Given the description of an element on the screen output the (x, y) to click on. 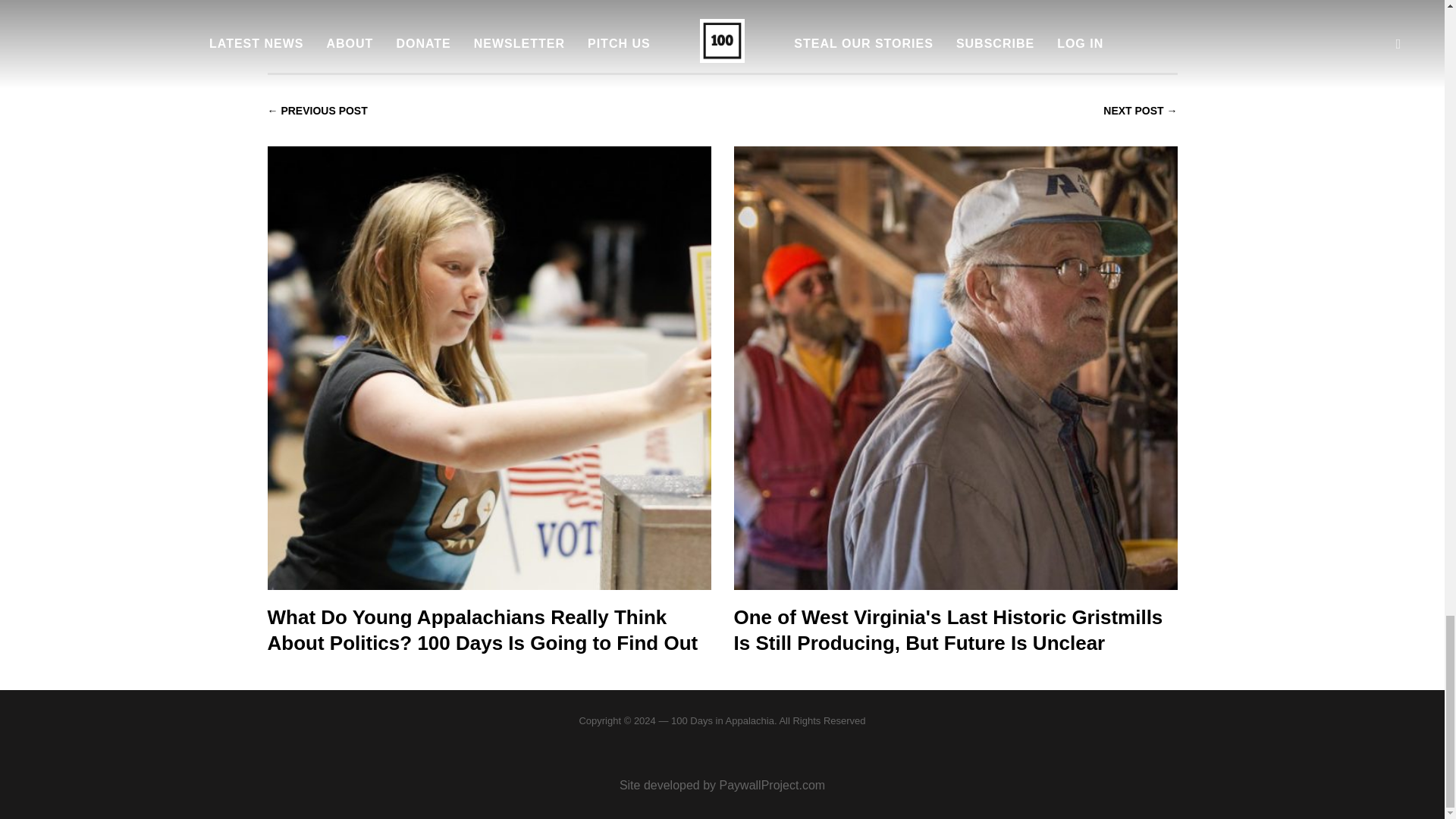
Site developed by PaywallProject.com (722, 784)
